Given the description of an element on the screen output the (x, y) to click on. 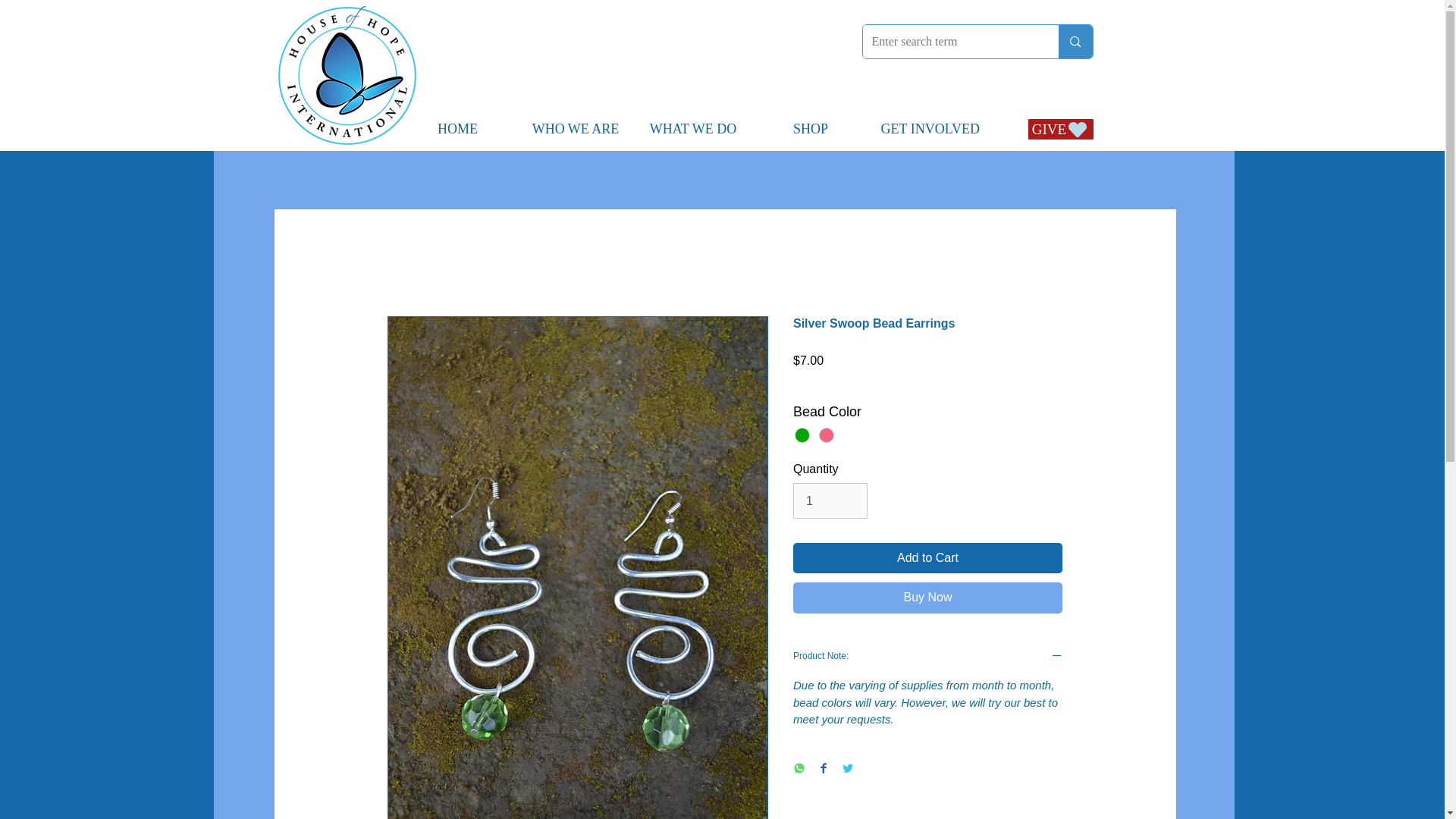
HOME (457, 128)
GIVE (1046, 128)
Shipped by Volunteers (971, 381)
GET INVOLVED (928, 128)
GIVE (1060, 128)
logo.png (346, 75)
Add to Cart (927, 557)
Buy Now (927, 597)
Product Note: (927, 657)
SHOP (810, 128)
